Given the description of an element on the screen output the (x, y) to click on. 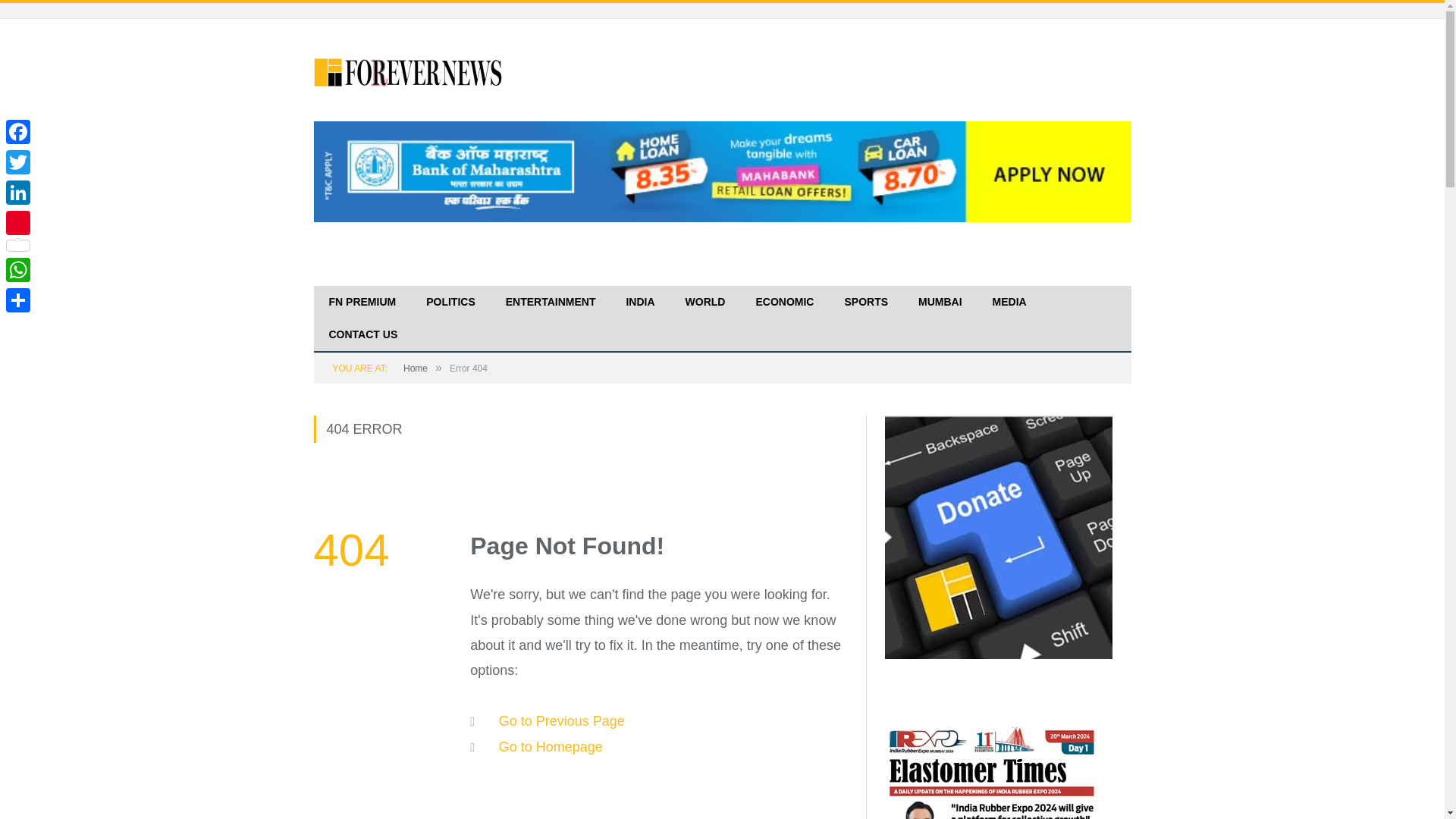
MUMBAI (939, 302)
Home (415, 368)
INDIA (639, 302)
Facebook (17, 132)
FN PREMIUM (363, 302)
ECONOMIC (783, 302)
WORLD (705, 302)
Forever NEWS (408, 69)
POLITICS (450, 302)
Go to Homepage (550, 746)
MEDIA (1009, 302)
Go to Previous Page (561, 720)
CONTACT US (363, 335)
ENTERTAINMENT (550, 302)
SPORTS (865, 302)
